Given the description of an element on the screen output the (x, y) to click on. 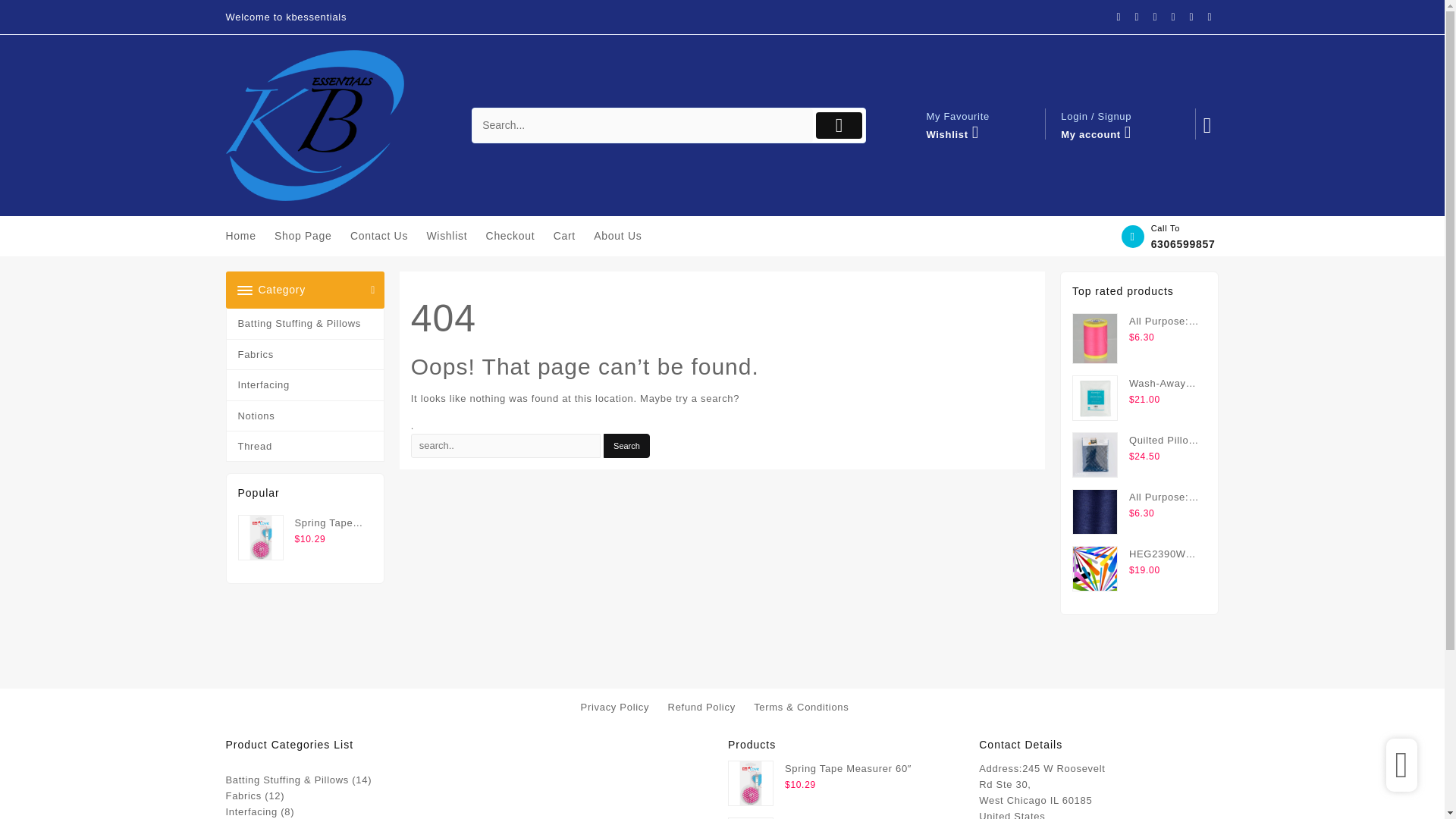
Checkout (518, 236)
My Favourite Wishlist (978, 125)
Search (626, 445)
Search (641, 125)
Wishlist (453, 236)
Submit (838, 125)
Home (247, 236)
Contact Us (386, 236)
Shop Page (311, 236)
